Given the description of an element on the screen output the (x, y) to click on. 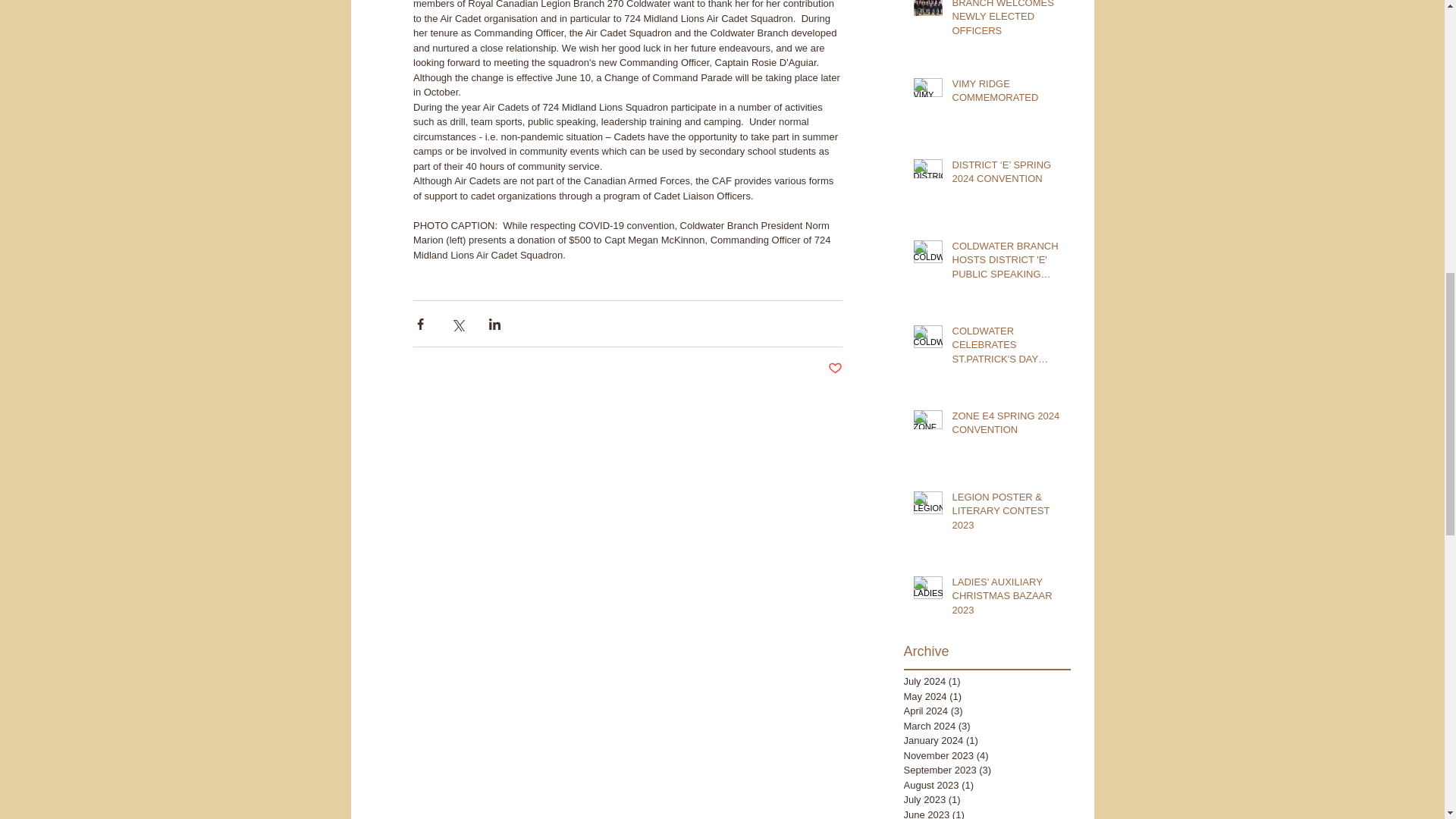
ZONE E4 SPRING 2024 CONVENTION (1006, 426)
BRANCH WELCOMES NEWLY ELECTED OFFICERS (1006, 22)
COLDWATER CELEBRATES ST.PATRICK'S DAY 2024 (1006, 348)
LADIES' AUXILIARY CHRISTMAS BAZAAR 2023 (1006, 599)
VIMY RIDGE COMMEMORATED (1006, 93)
Post not marked as liked (835, 368)
